Given the description of an element on the screen output the (x, y) to click on. 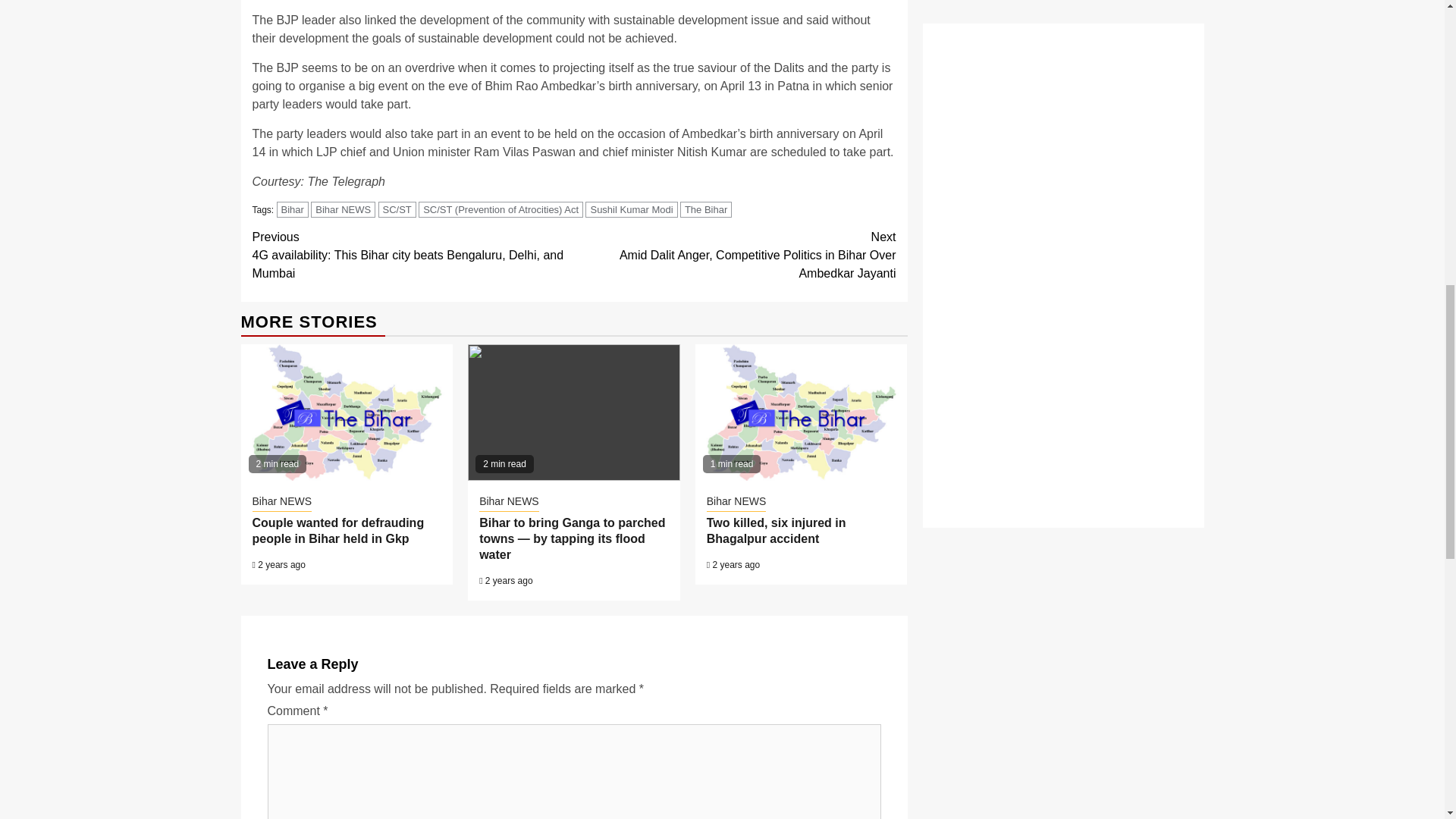
Sushil Kumar Modi (631, 209)
Bihar (292, 209)
Bihar NEWS (343, 209)
The Bihar (705, 209)
